Given the description of an element on the screen output the (x, y) to click on. 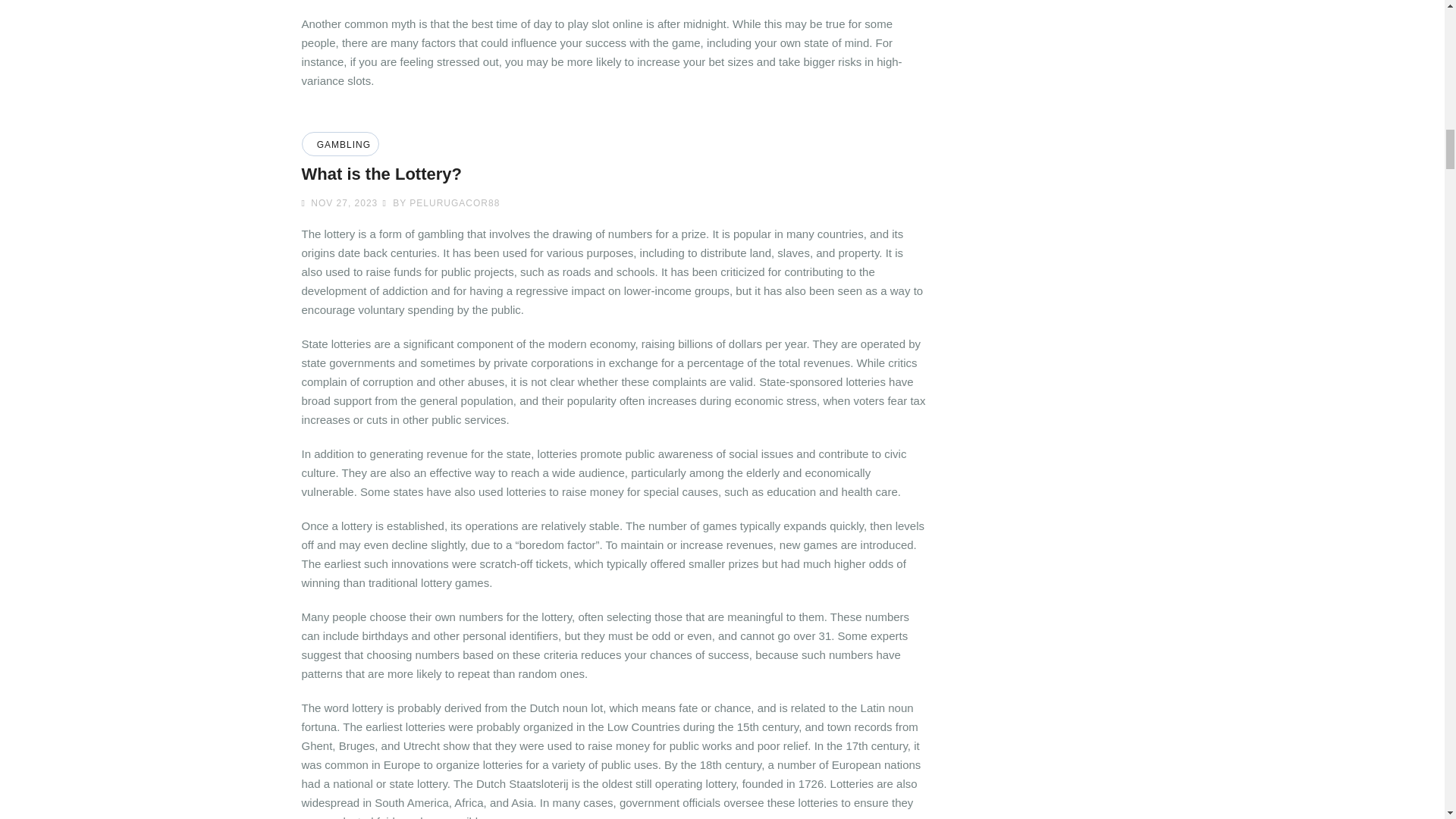
GAMBLING (342, 144)
NOV 27, 2023 (342, 203)
Permalink to: What is the Lottery? (381, 173)
What is the Lottery? (381, 173)
BY PELURUGACOR88 (440, 203)
